Given the description of an element on the screen output the (x, y) to click on. 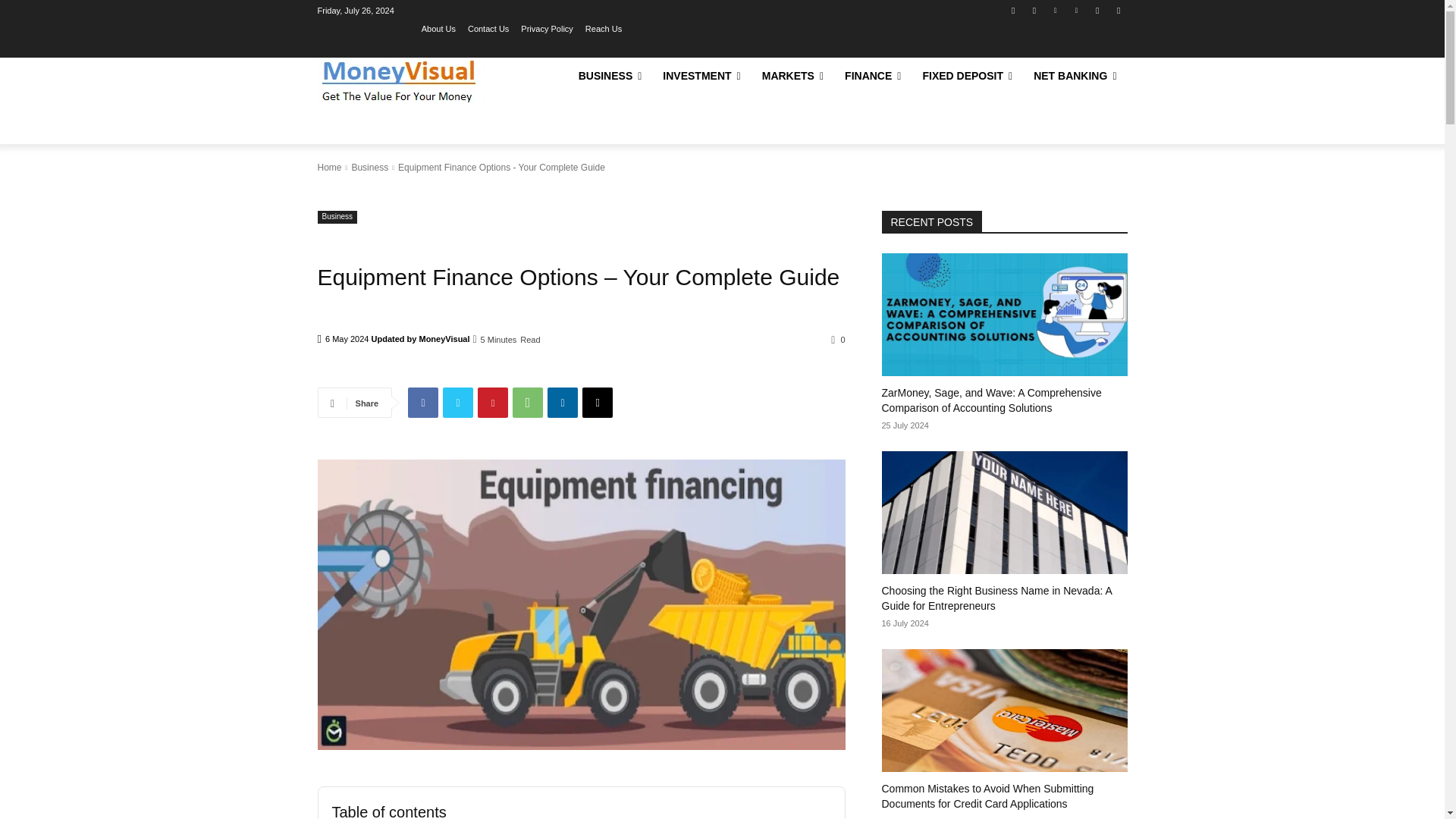
Facebook (1013, 9)
Linkedin (1055, 9)
Pinterest (1075, 9)
Twitter (457, 402)
Facebook (422, 402)
View all posts in Business (369, 167)
Linkedin (562, 402)
Pinterest (492, 402)
Instagram (1034, 9)
About Us (438, 28)
WhatsApp (527, 402)
Youtube (1117, 9)
Email (597, 402)
Twitter (1097, 9)
